Given the description of an element on the screen output the (x, y) to click on. 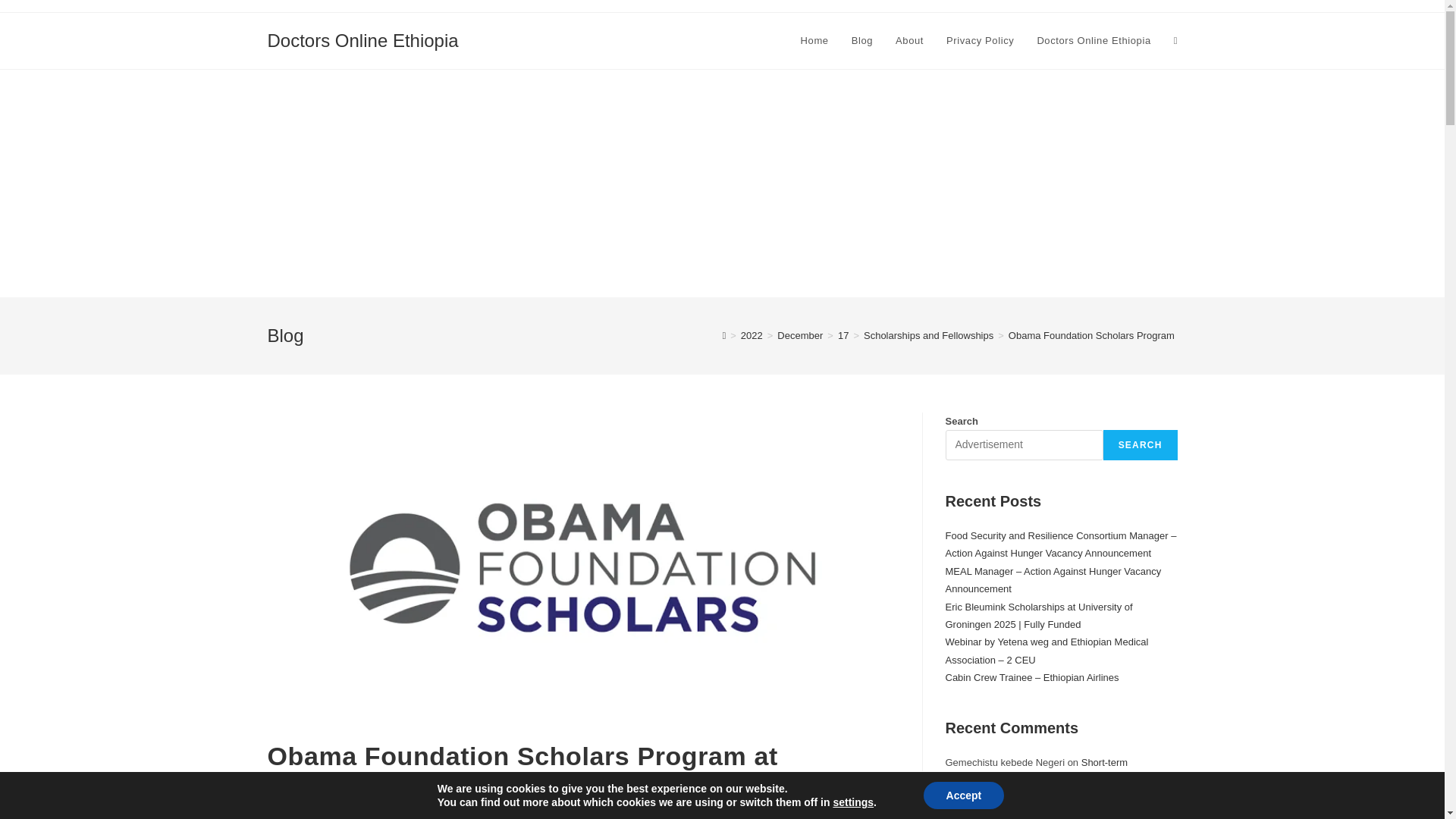
2022 (751, 335)
About (908, 40)
Home (814, 40)
Privacy Policy (979, 40)
December (799, 335)
Doctors Online Ethiopia (1093, 40)
Doctors Online Ethiopia (362, 40)
17 (843, 335)
Scholarships and Fellowships (927, 335)
